Given the description of an element on the screen output the (x, y) to click on. 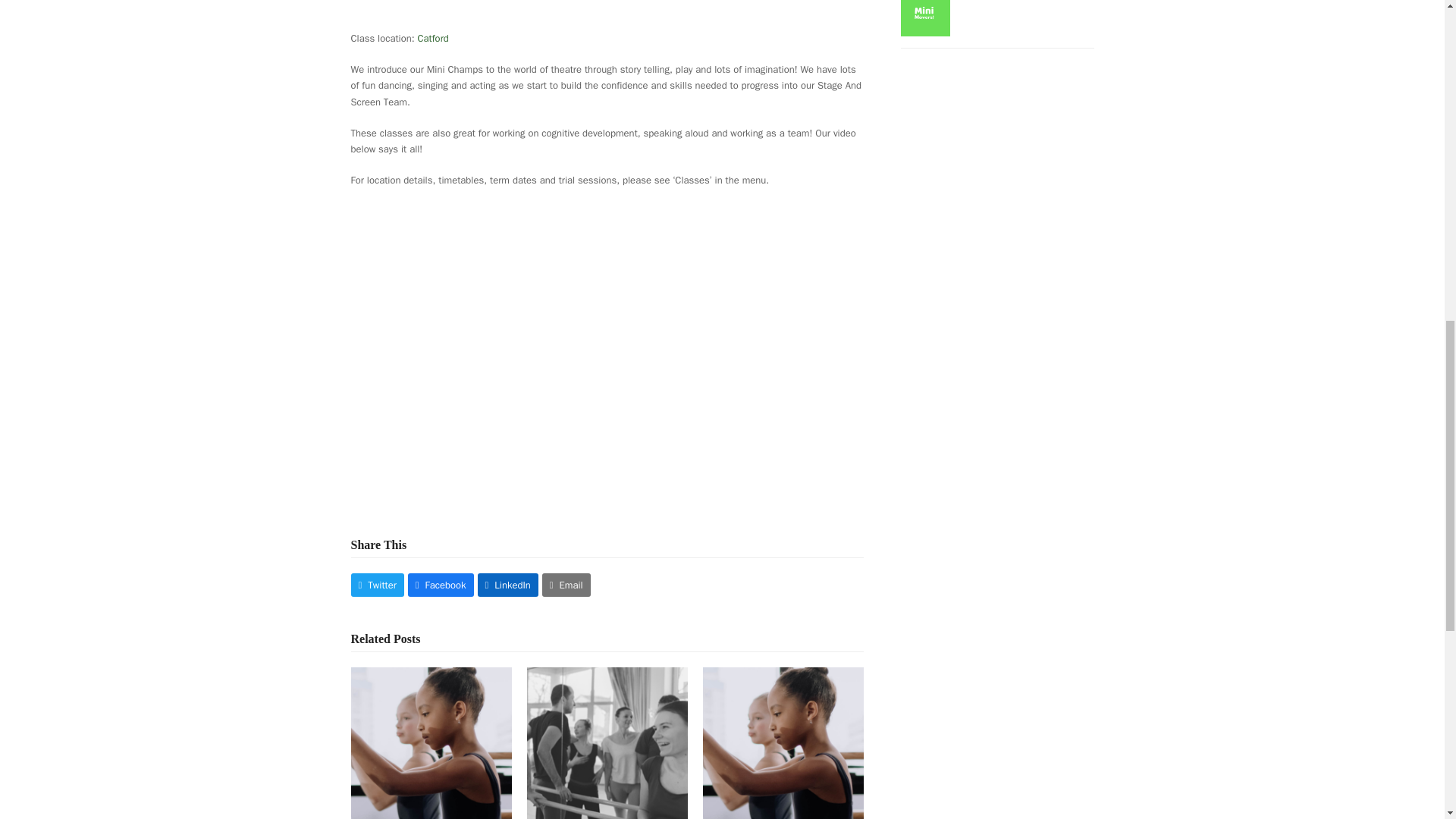
LinkedIn (507, 585)
Catford (432, 38)
Email (566, 585)
Twitter (376, 585)
Facebook (440, 585)
